Given the description of an element on the screen output the (x, y) to click on. 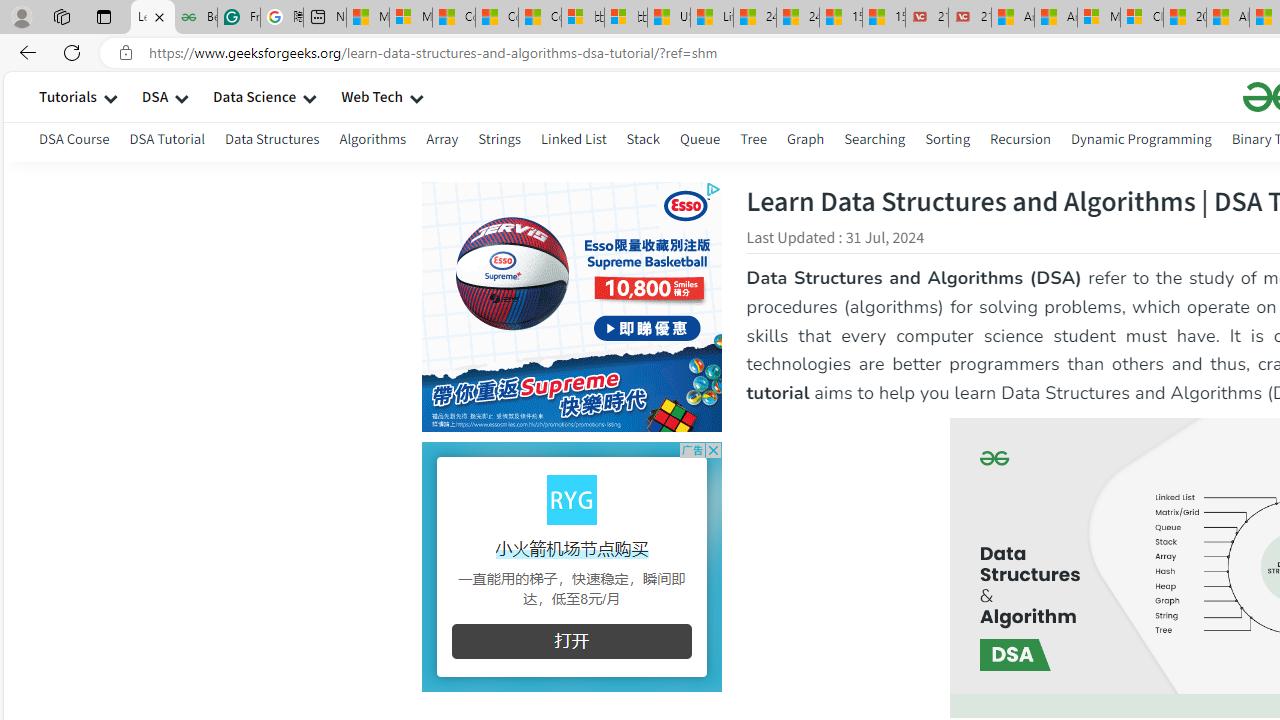
Tree (752, 138)
Strings (499, 138)
DSA Course (74, 138)
Array (442, 138)
Tutorials (67, 96)
Stack (642, 142)
21 Movies That Outdid the Books They Were Based On (969, 17)
Web Tech (372, 96)
Queue (699, 142)
Lifestyle - MSN (712, 17)
Cloud Computing Services | Microsoft Azure (1142, 17)
